Given the description of an element on the screen output the (x, y) to click on. 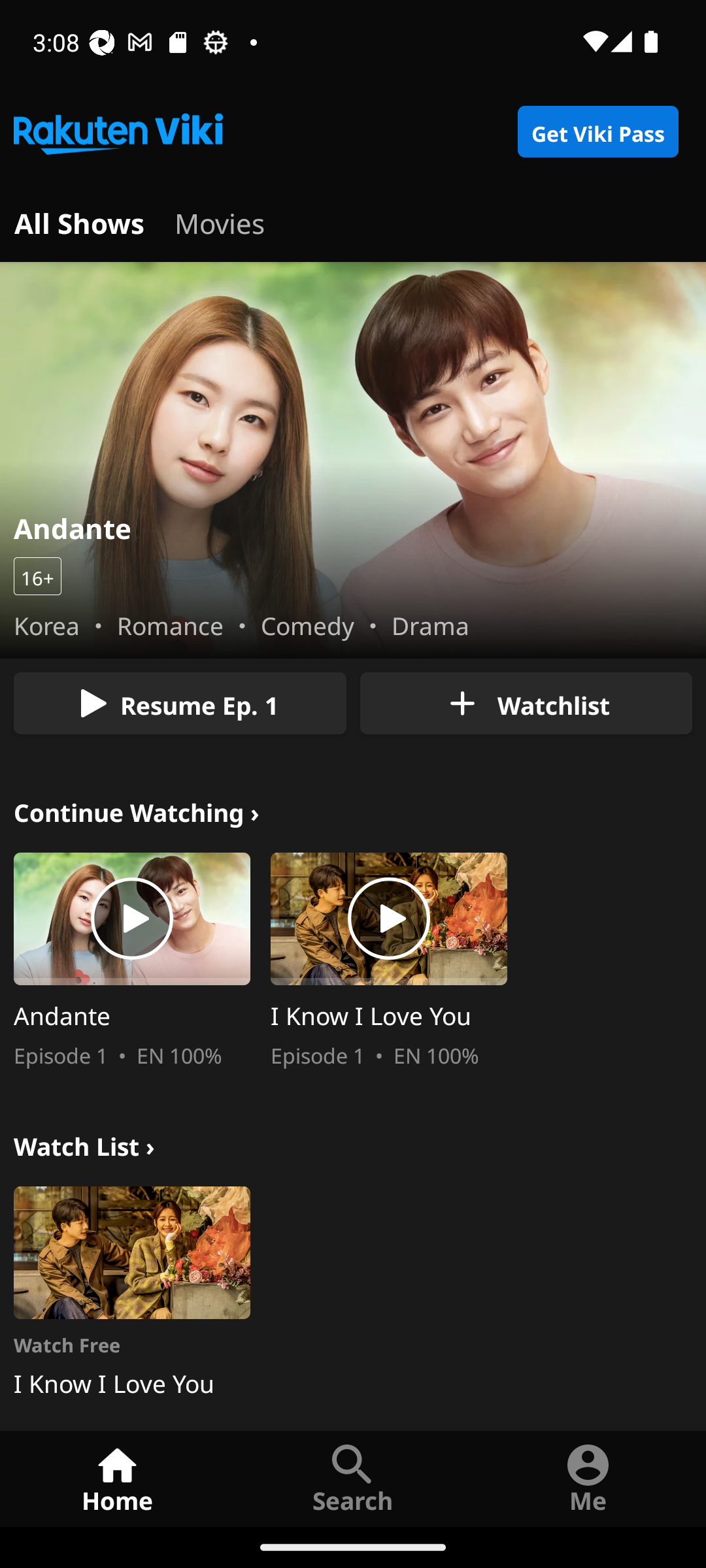
Get Viki Pass (597, 131)
home_tab_movies Movies (219, 220)
Resume Ep. 1 home_billboard_play_button (179, 702)
Watchlist home_billboard_add_to_watchlist_button (526, 702)
Continue Watching › continue_watching (136, 809)
Watch List › watch_list (84, 1143)
Search (352, 1478)
Me (588, 1478)
